Given the description of an element on the screen output the (x, y) to click on. 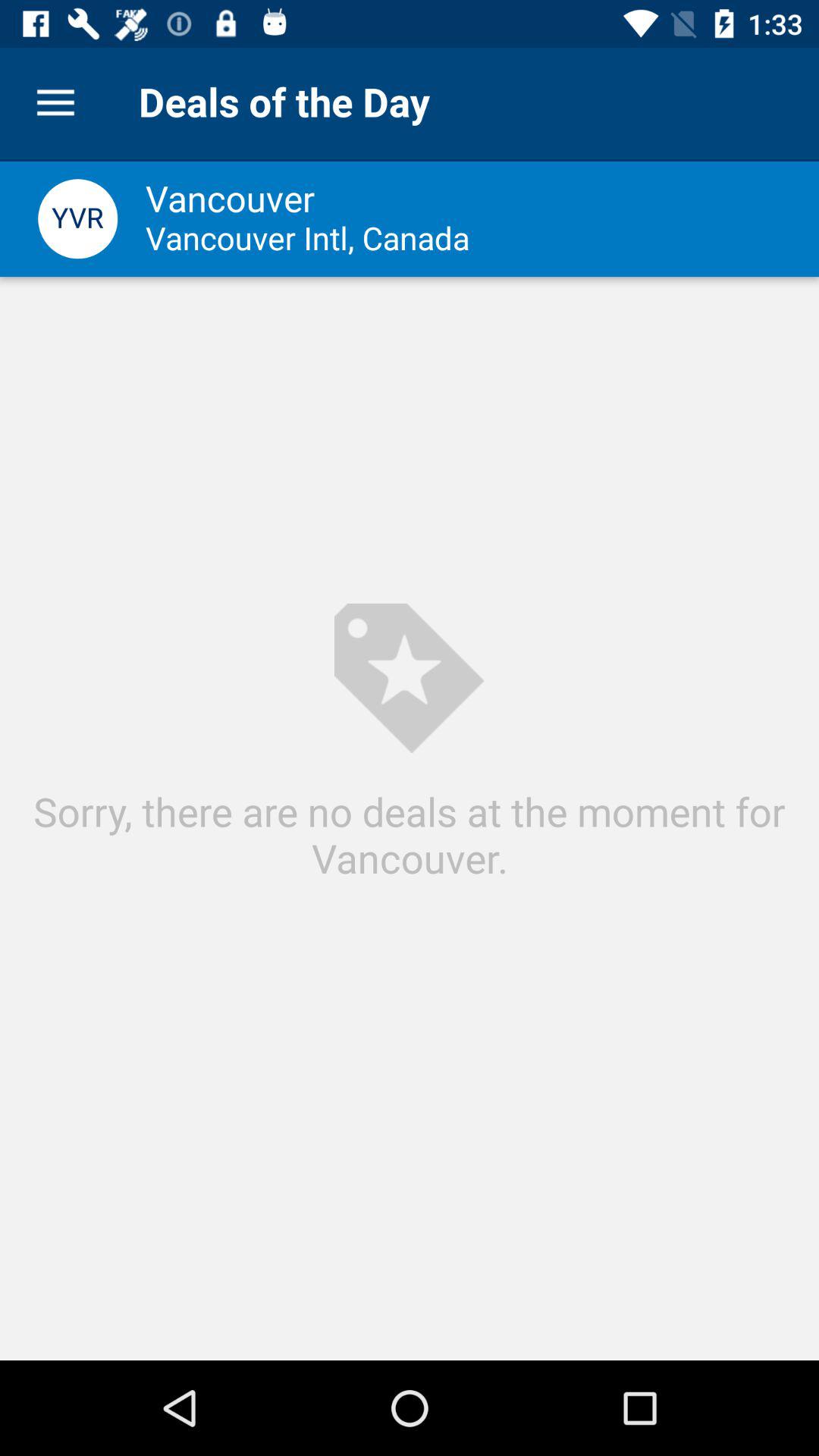
turn off the icon next to the deals of the item (55, 103)
